Given the description of an element on the screen output the (x, y) to click on. 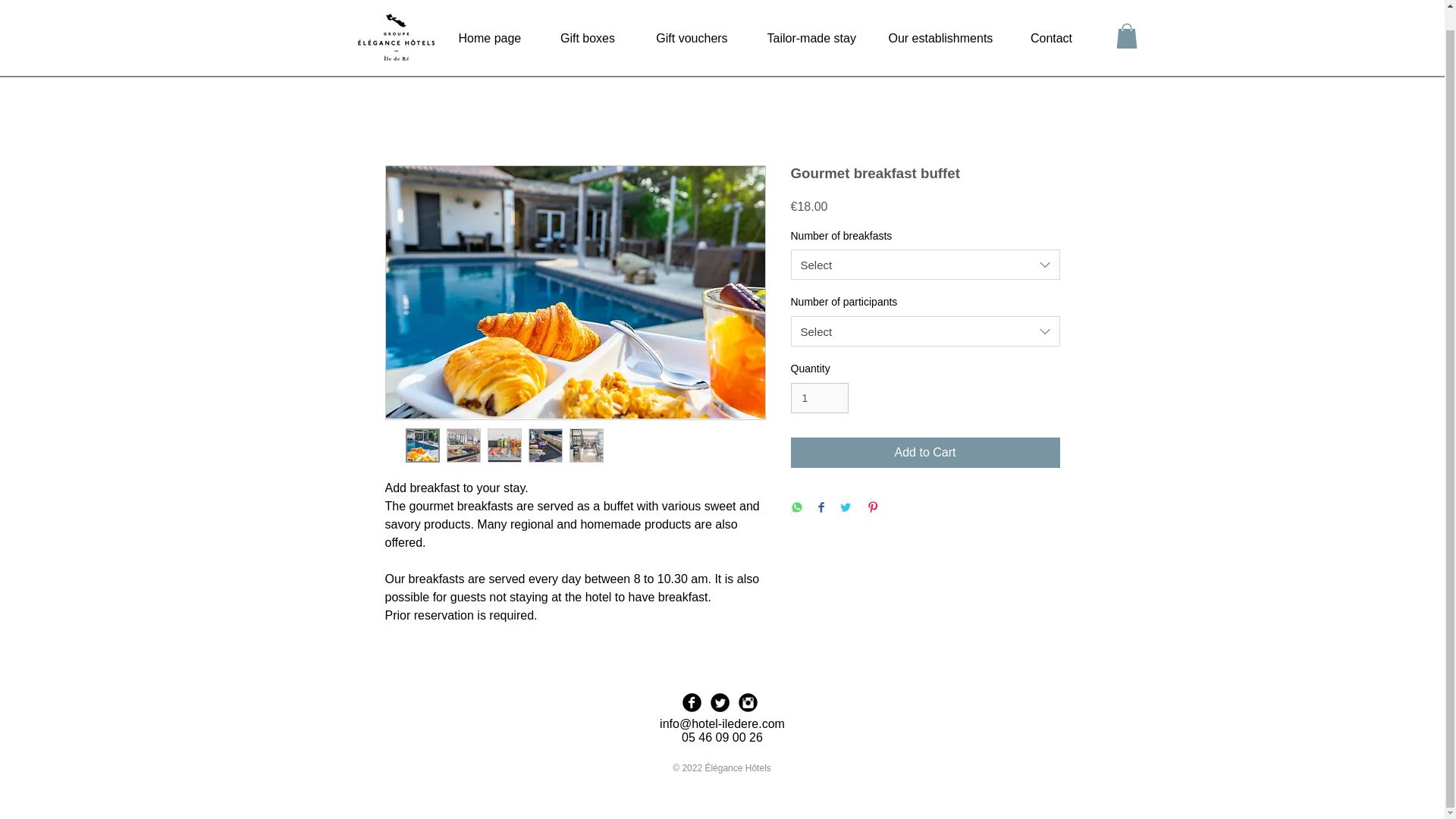
Home page (489, 18)
Select (924, 331)
1 (818, 398)
Gift vouchers (691, 18)
Tailor-made stay (808, 18)
Add to Cart (924, 452)
Gift boxes (588, 18)
Contact (1051, 18)
Our establishments (939, 18)
Select (924, 264)
